Given the description of an element on the screen output the (x, y) to click on. 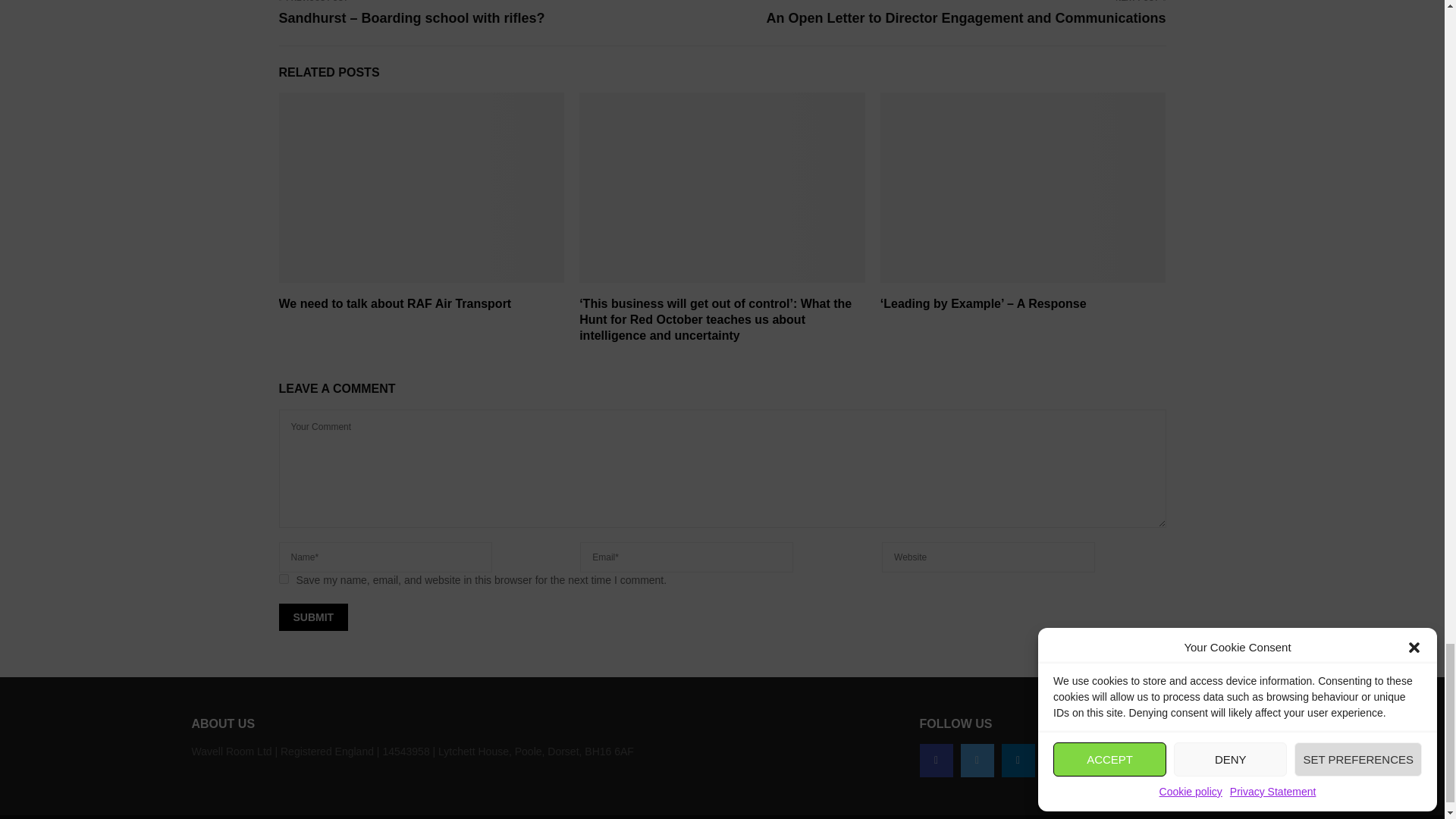
Submit (314, 616)
yes (283, 578)
